Given the description of an element on the screen output the (x, y) to click on. 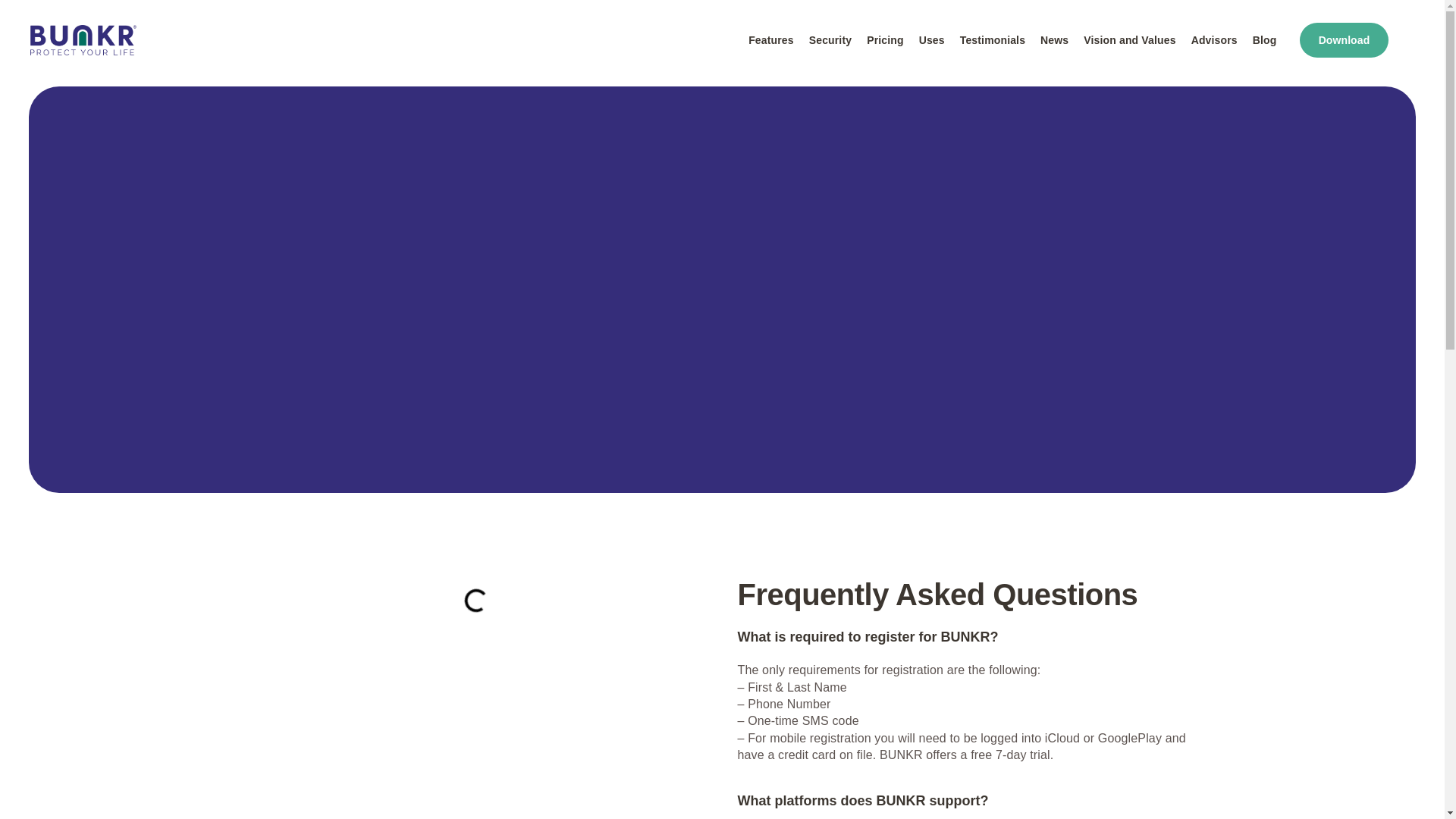
Uses (931, 39)
Blog (1264, 39)
Testimonials (992, 39)
Download (1344, 39)
News (1053, 39)
Advisors (1213, 39)
Security (830, 39)
Features (771, 39)
Vision and Values (1128, 39)
Pricing (885, 39)
